Given the description of an element on the screen output the (x, y) to click on. 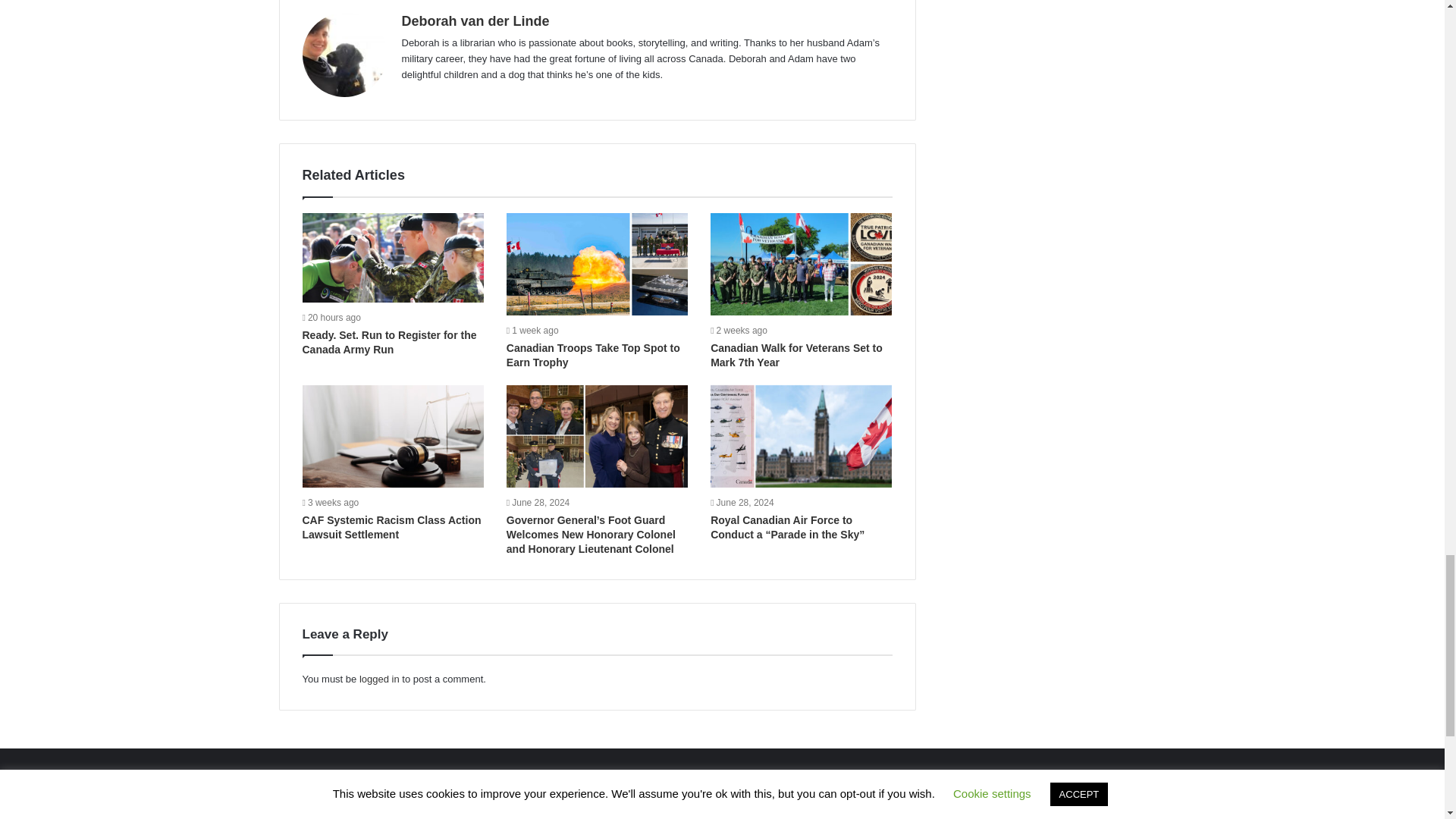
CAF Systemic Racism Class Action Lawsuit Settlement (390, 527)
Canadian Walk for Veterans Set to Mark 7th Year (796, 355)
Canadian Troops Take Top Spot to Earn Trophy (592, 355)
Ready. Set. Run to Register for the Canada Army Run (388, 342)
